Given the description of an element on the screen output the (x, y) to click on. 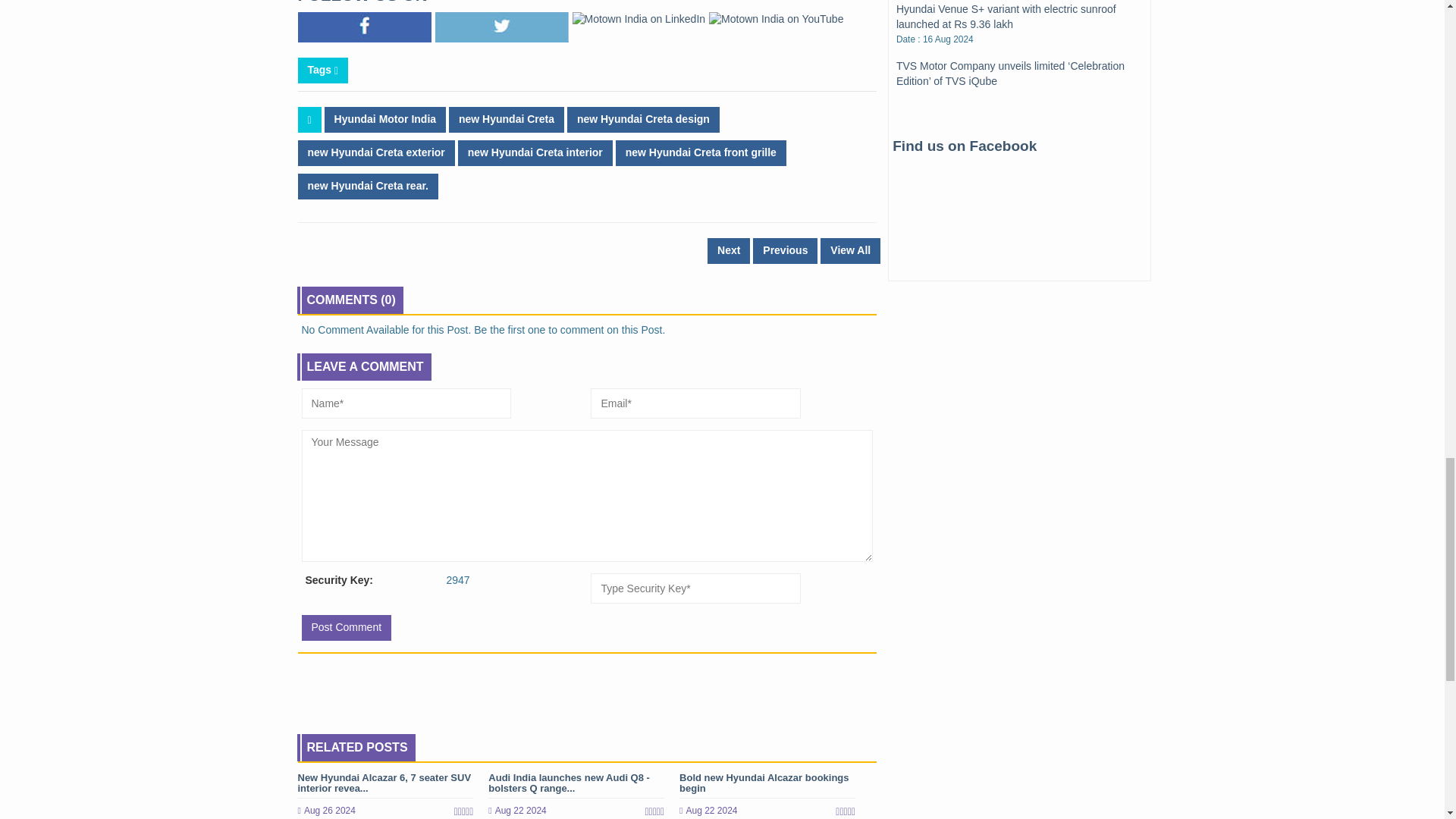
Post Comment (346, 627)
Hyundai Motor India (385, 119)
new Hyundai Creta (506, 119)
new Hyundai Creta design (643, 119)
new Hyundai Creta exterior (375, 153)
